Given the description of an element on the screen output the (x, y) to click on. 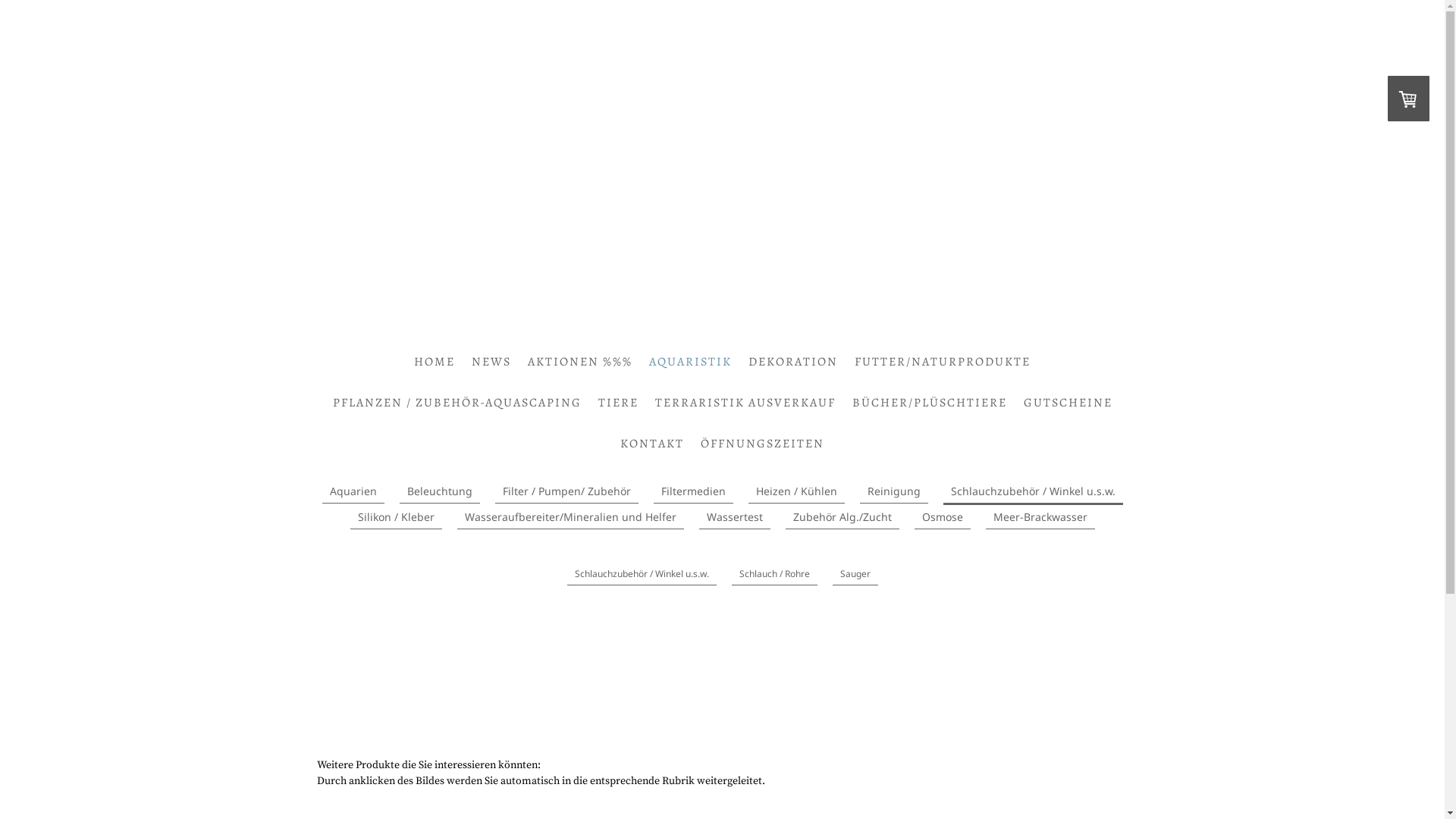
Sauger Element type: text (855, 574)
Wassertest Element type: text (734, 517)
GUTSCHEINE Element type: text (1067, 402)
Beleuchtung Element type: text (438, 491)
NEWS Element type: text (491, 361)
Aquarien Element type: text (352, 491)
Filtermedien Element type: text (693, 491)
TIERE Element type: text (617, 402)
KONTAKT Element type: text (651, 443)
Reinigung Element type: text (893, 491)
AQUARISTIK Element type: text (690, 361)
DEKORATION Element type: text (793, 361)
AKTIONEN %%% Element type: text (579, 361)
Wasseraufbereiter/Mineralien und Helfer Element type: text (569, 517)
Meer-Brackwasser Element type: text (1040, 517)
FUTTER/NATURPRODUKTE Element type: text (942, 361)
Osmose Element type: text (942, 517)
Schlauch / Rohre Element type: text (773, 574)
Silikon / Kleber Element type: text (396, 517)
TERRARISTIK AUSVERKAUF Element type: text (744, 402)
HOME Element type: text (434, 361)
